Given the description of an element on the screen output the (x, y) to click on. 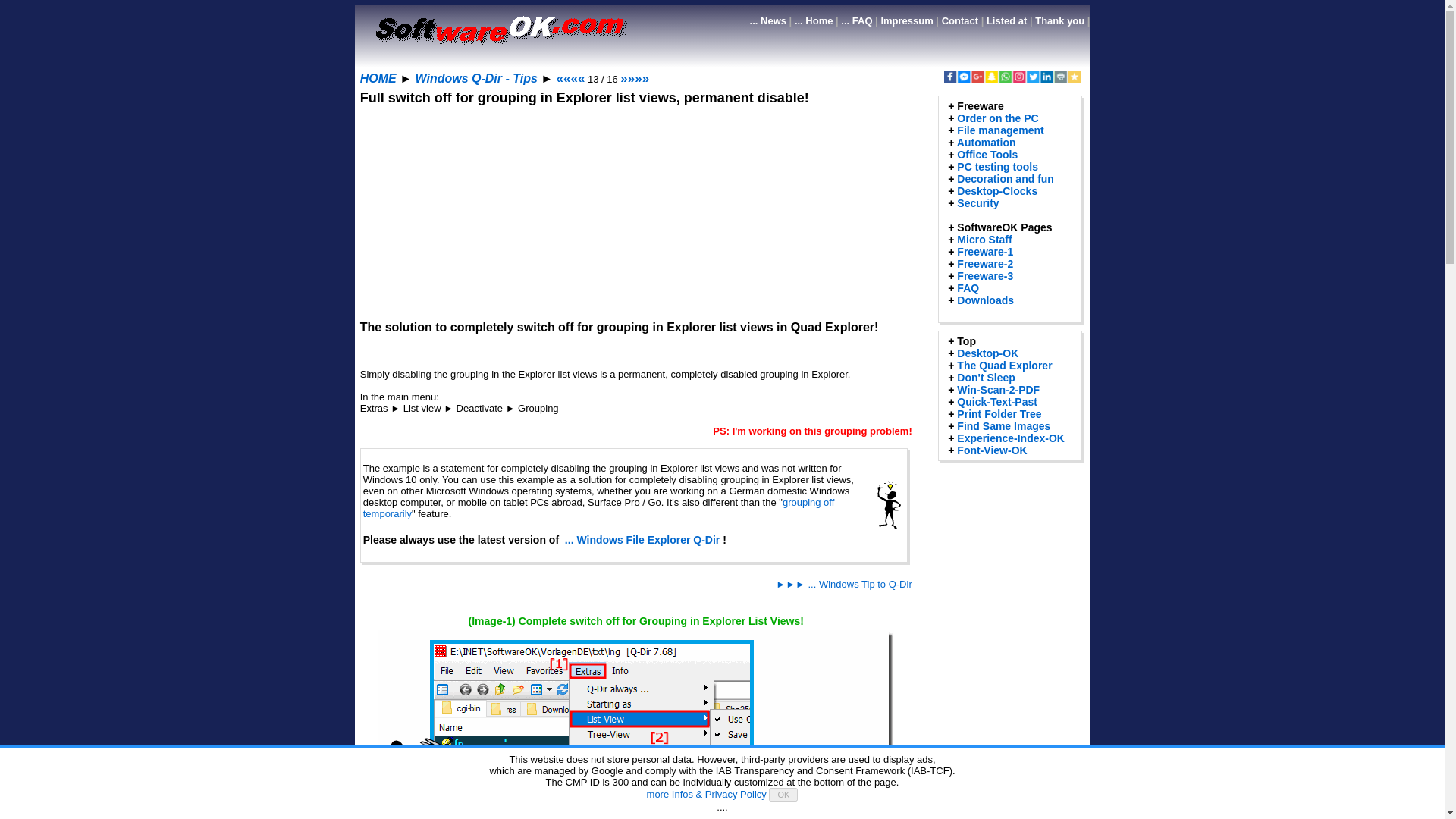
File management (999, 130)
Contact (960, 20)
grouping off temporarily (598, 507)
... Home (813, 20)
Freeware (979, 105)
 OK  (782, 794)
Automation (986, 142)
Security (977, 203)
Advertisement (635, 212)
Windows Q-Dir - Tips (475, 78)
